Given the description of an element on the screen output the (x, y) to click on. 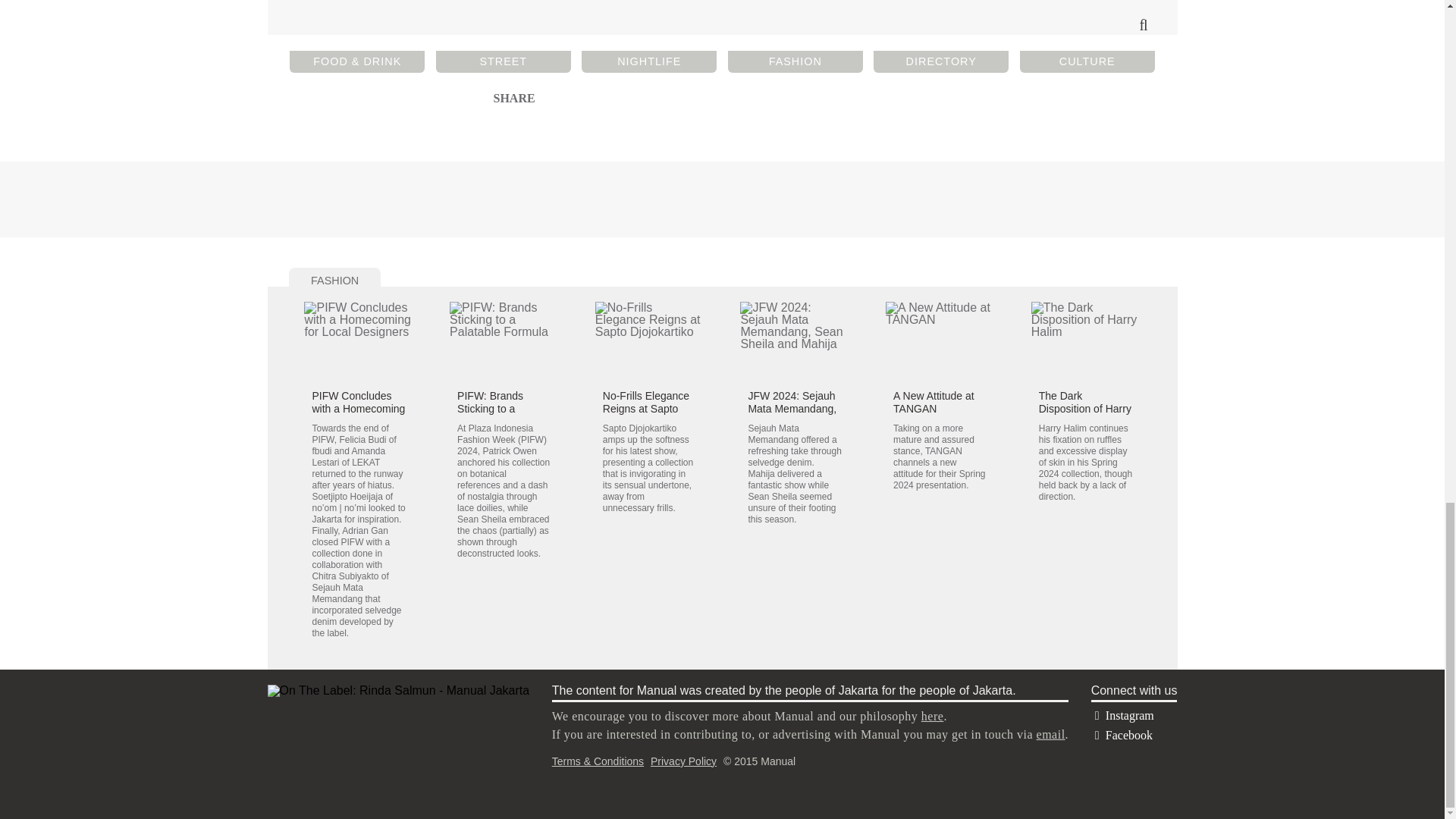
Read PIFW Concludes with a Homecoming for Local Designers (357, 408)
No-Frills Elegance Reigns at Sapto Djojokartiko (645, 408)
Read PIFW: Brands Sticking to a Palatable Formula (504, 342)
PIFW Concludes with a Homecoming for Local Designers (357, 408)
PIFW: Brands Sticking to a Palatable Formula (500, 408)
Read JFW 2024: Sejauh Mata Memandang, Sean Sheila and Mahija (793, 342)
Read A New Attitude at TANGAN (939, 342)
Read A New Attitude at TANGAN (933, 401)
Share on Facebook (504, 97)
Read JFW 2024: Sejauh Mata Memandang, Sean Sheila and Mahija (791, 414)
